Given the description of an element on the screen output the (x, y) to click on. 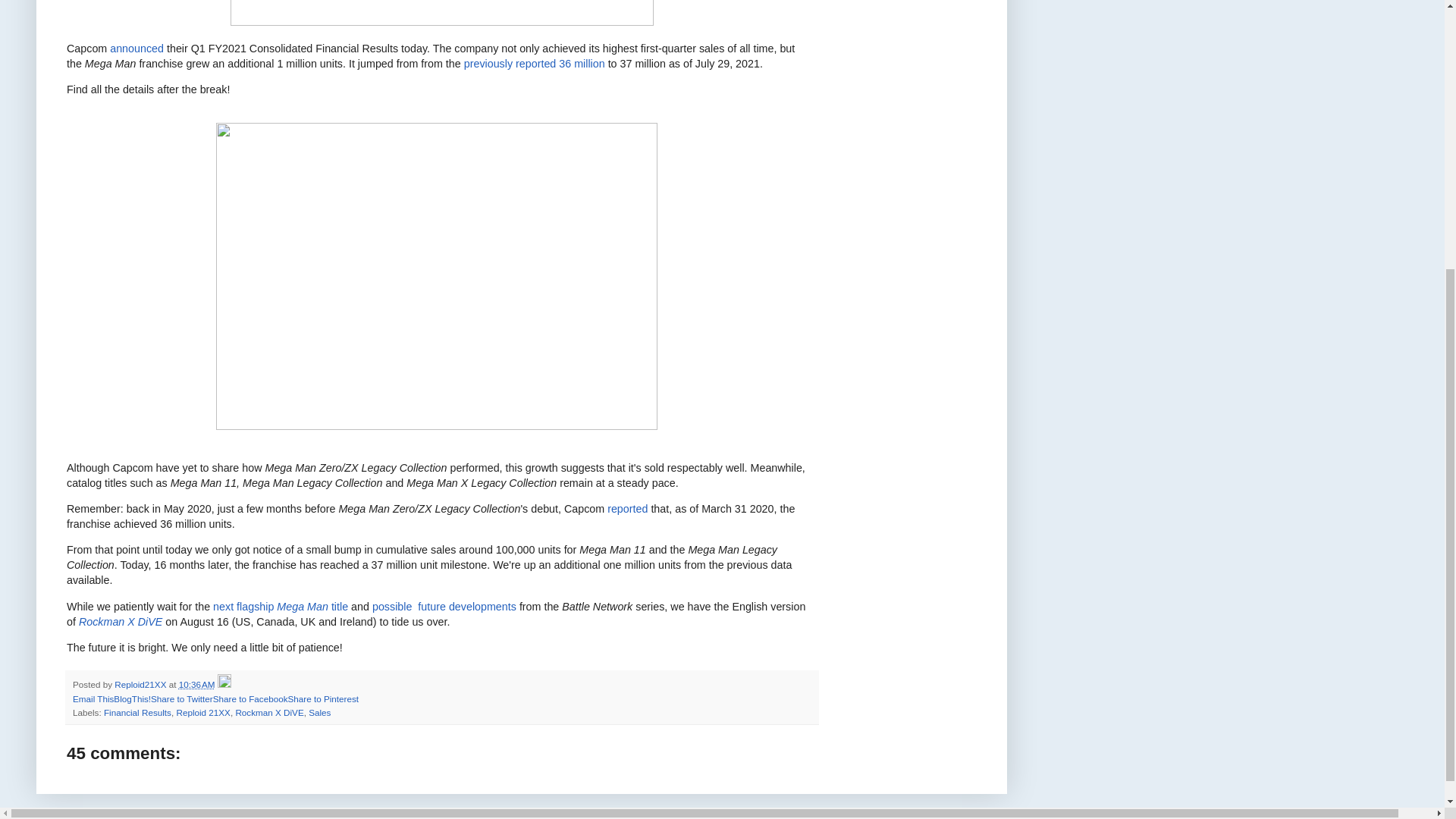
Share to Twitter (181, 698)
Share to Pinterest (322, 698)
Edit Post (223, 684)
possible  future developments (444, 606)
Financial Results (137, 712)
BlogThis! (132, 698)
Share to Facebook (250, 698)
announced (136, 48)
Sales (319, 712)
BlogThis! (132, 698)
Rockman X DiVE (119, 621)
next flagship Mega Man title (279, 606)
Share to Twitter (181, 698)
author profile (141, 684)
